Given the description of an element on the screen output the (x, y) to click on. 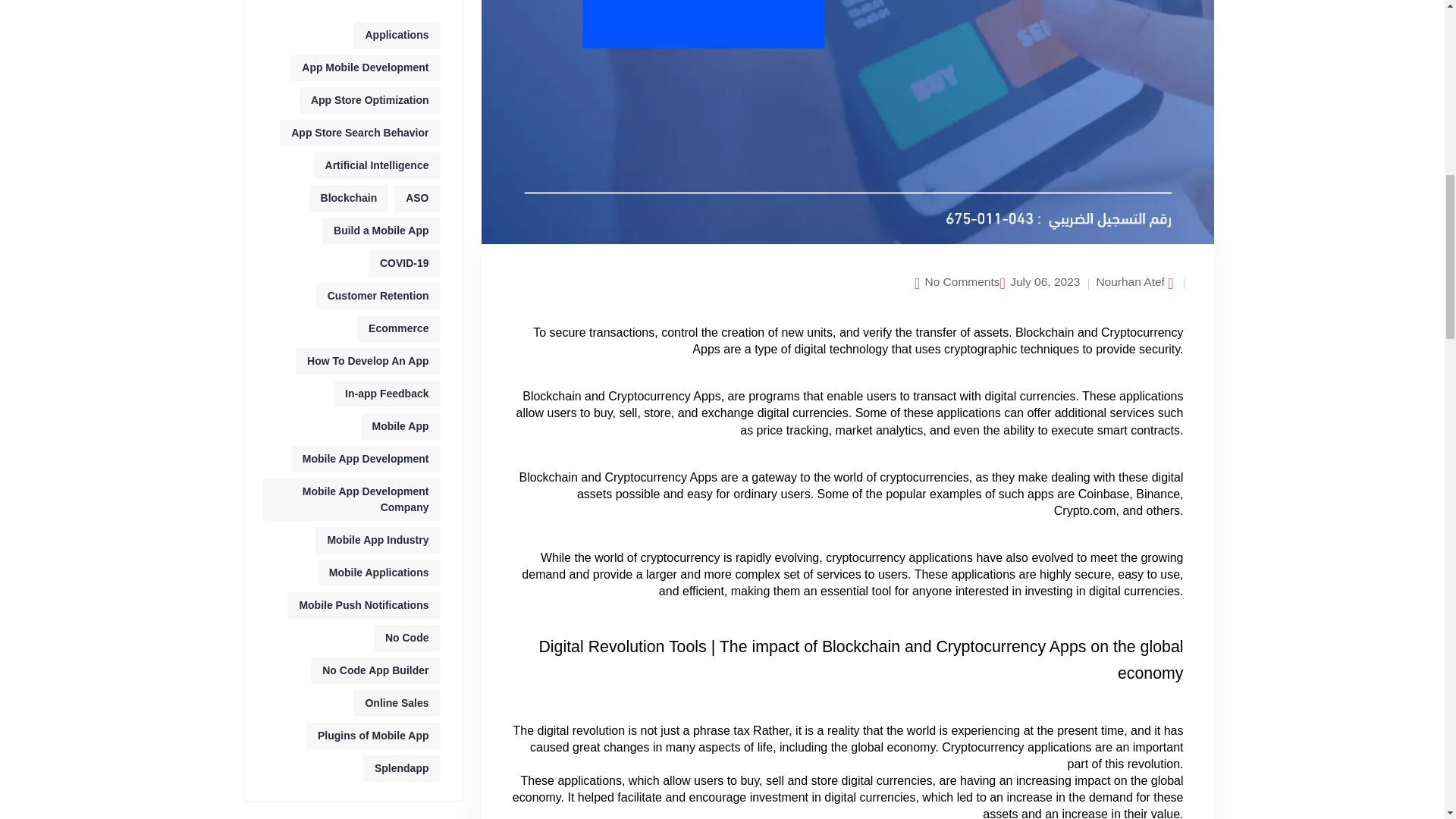
App Store Optimization (370, 99)
Plugins of Mobile App (372, 735)
Ecommerce (397, 328)
App Store Search Behavior (359, 132)
Mobile Push Notifications (362, 605)
Build a Mobile App (380, 230)
No Code (407, 637)
COVID-19 (404, 263)
Artificial Intelligence (377, 165)
How To Develop An App (367, 361)
No Code App Builder (375, 670)
Mobile App Development (366, 458)
Mobile App Development Company (351, 499)
Mobile Applications (379, 572)
Blockchain (348, 198)
